Given the description of an element on the screen output the (x, y) to click on. 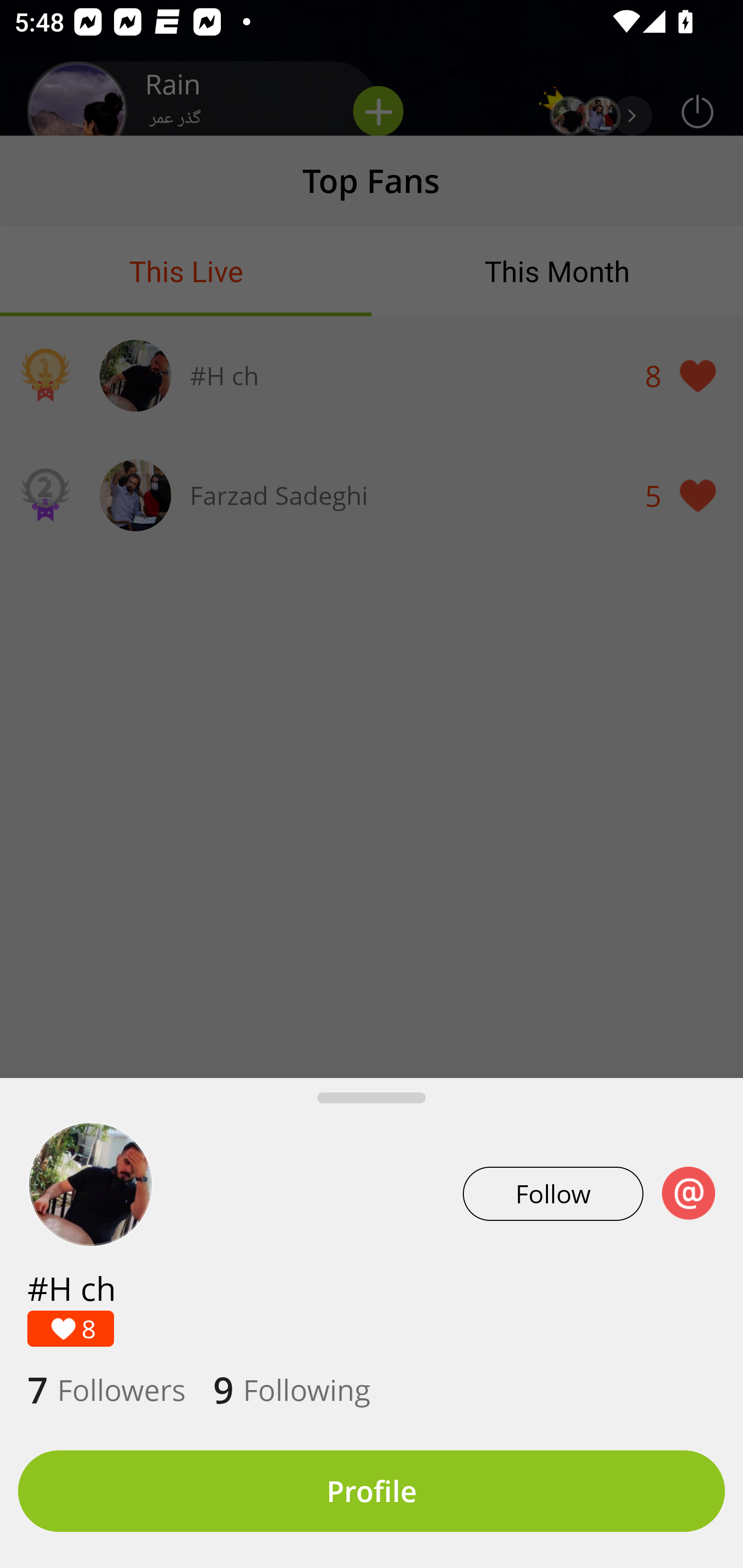
Follow (552, 1193)
Profile (371, 1490)
